Given the description of an element on the screen output the (x, y) to click on. 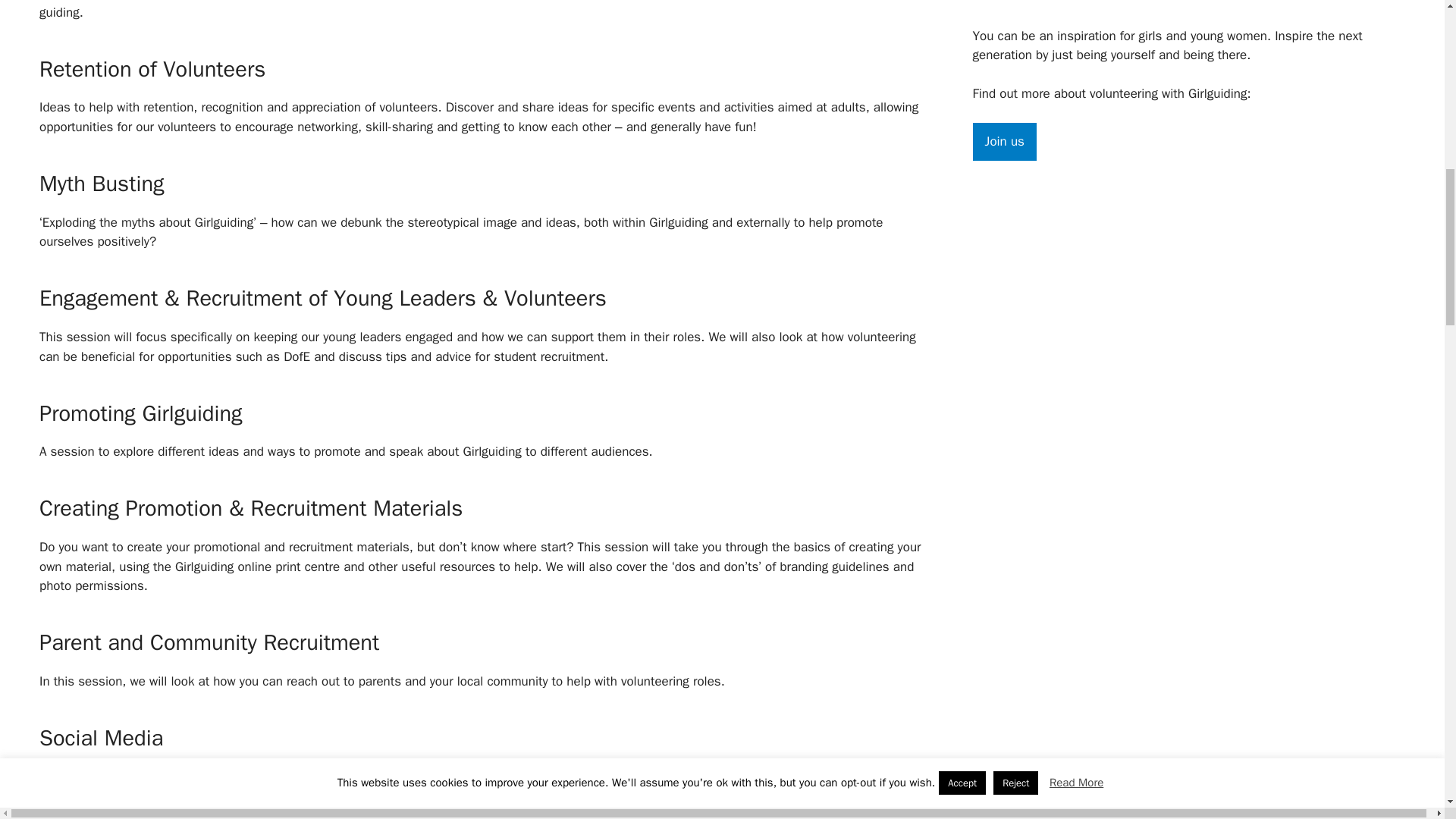
YouTube video player (1184, 5)
Scroll back to top (1406, 708)
Join us (1004, 141)
